Given the description of an element on the screen output the (x, y) to click on. 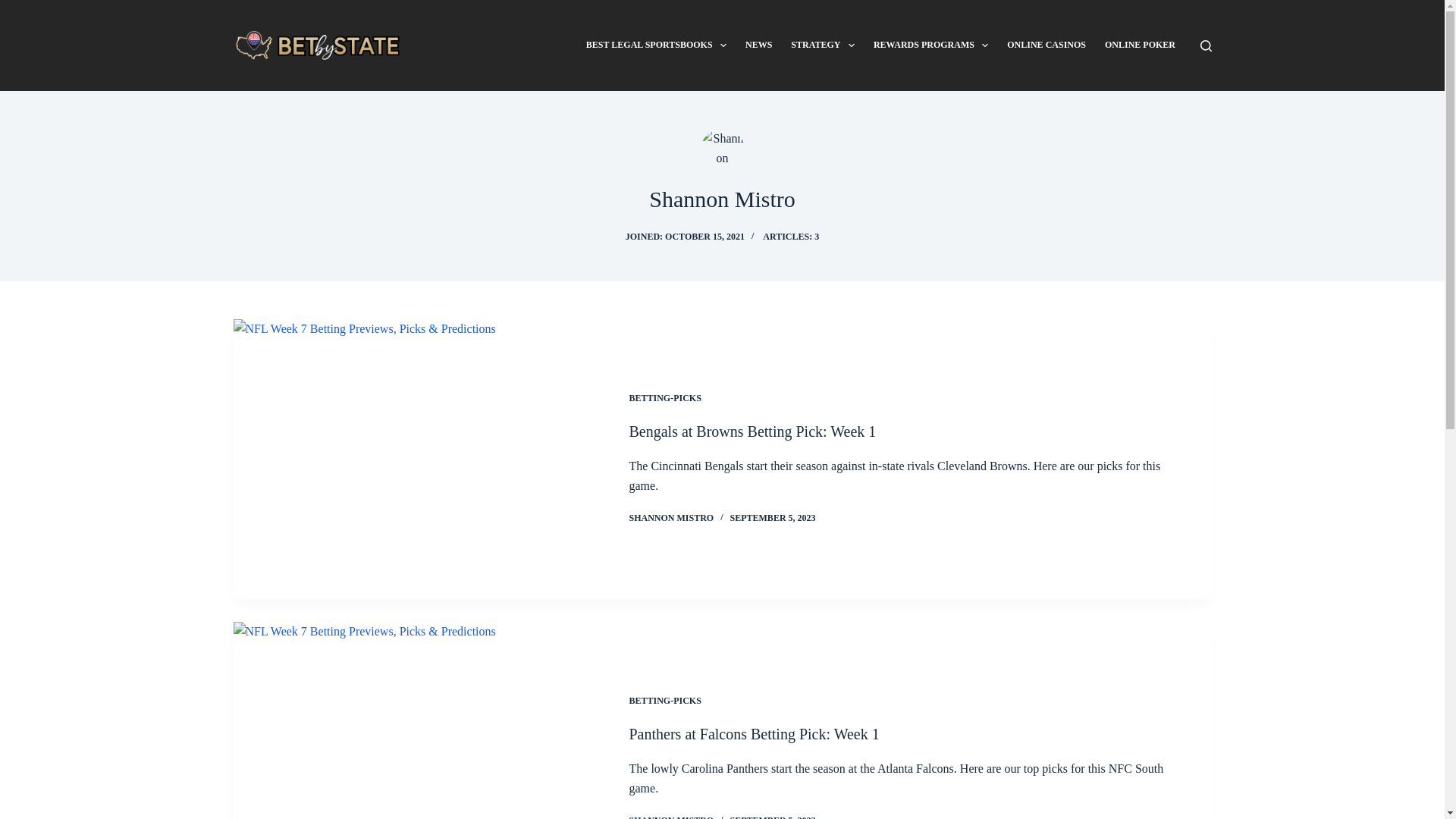
BEST LEGAL SPORTSBOOKS (655, 45)
Skip to content (15, 7)
Shannon Mistro (722, 198)
Posts by Shannon Mistro (671, 517)
Posts by Shannon Mistro (671, 816)
